Given the description of an element on the screen output the (x, y) to click on. 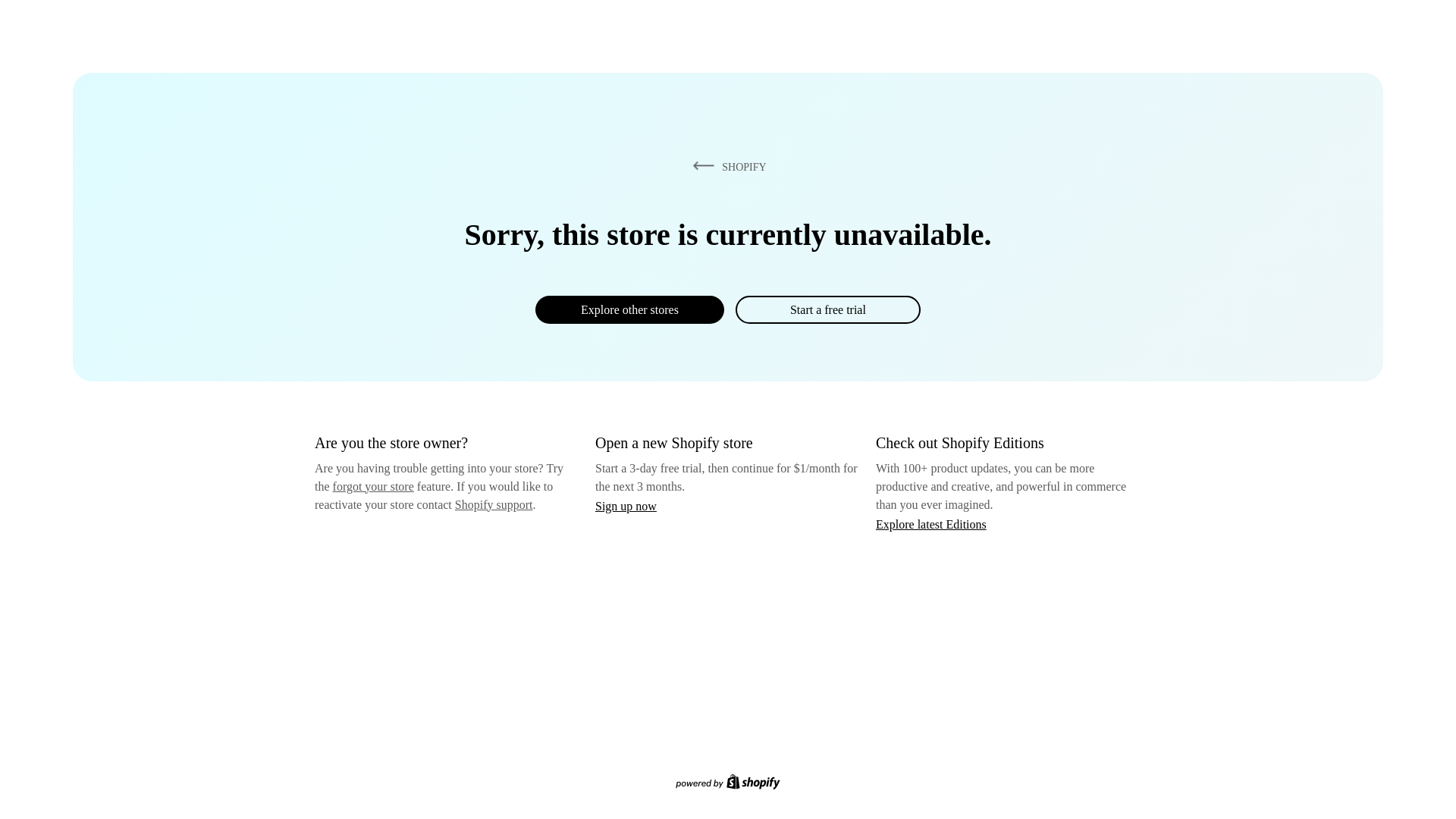
Sign up now (625, 505)
Shopify support (493, 504)
forgot your store (373, 486)
Start a free trial (827, 309)
SHOPIFY (726, 166)
Explore other stores (629, 309)
Explore latest Editions (931, 523)
